Given the description of an element on the screen output the (x, y) to click on. 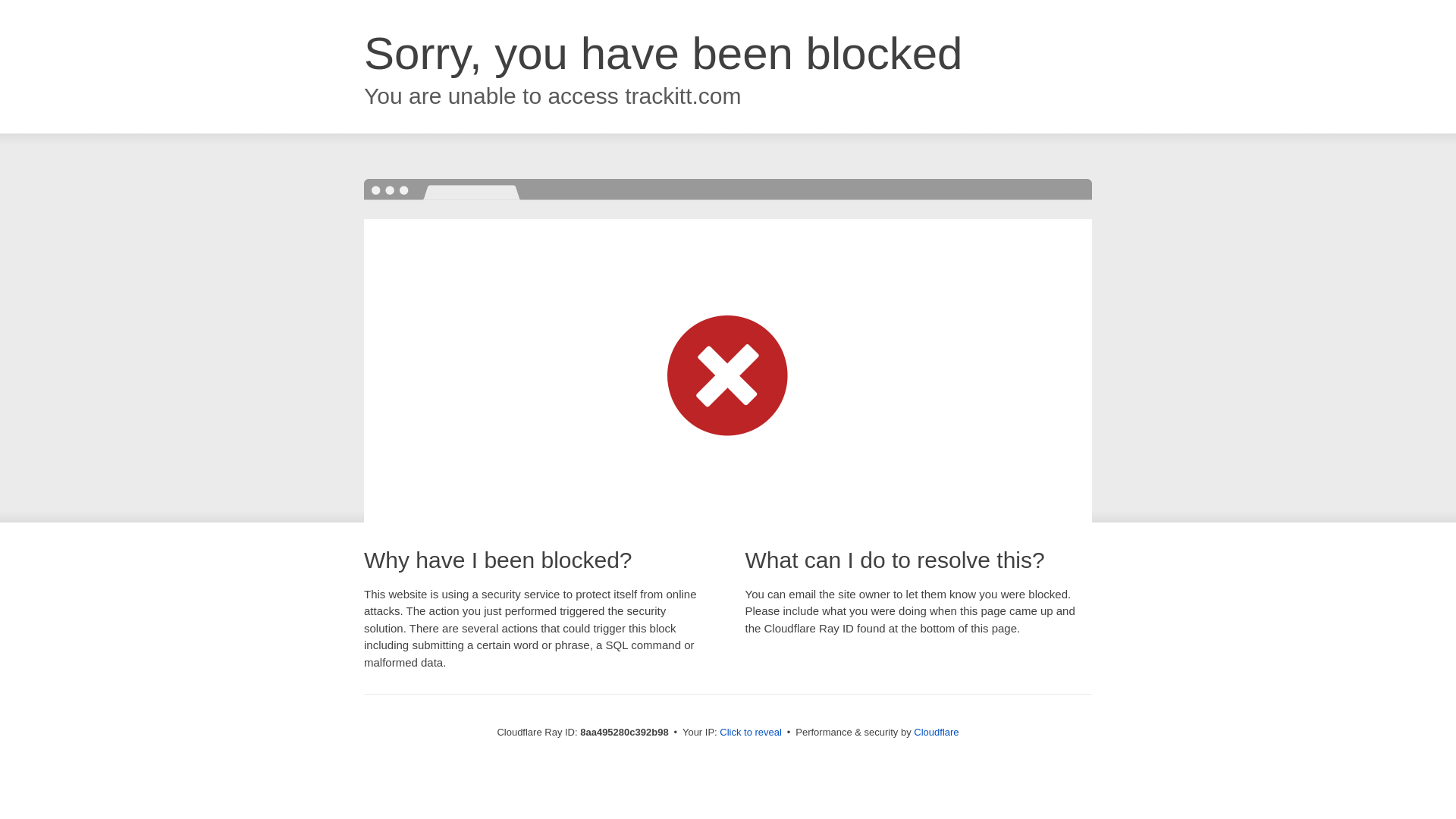
Cloudflare (936, 731)
Click to reveal (750, 732)
